Given the description of an element on the screen output the (x, y) to click on. 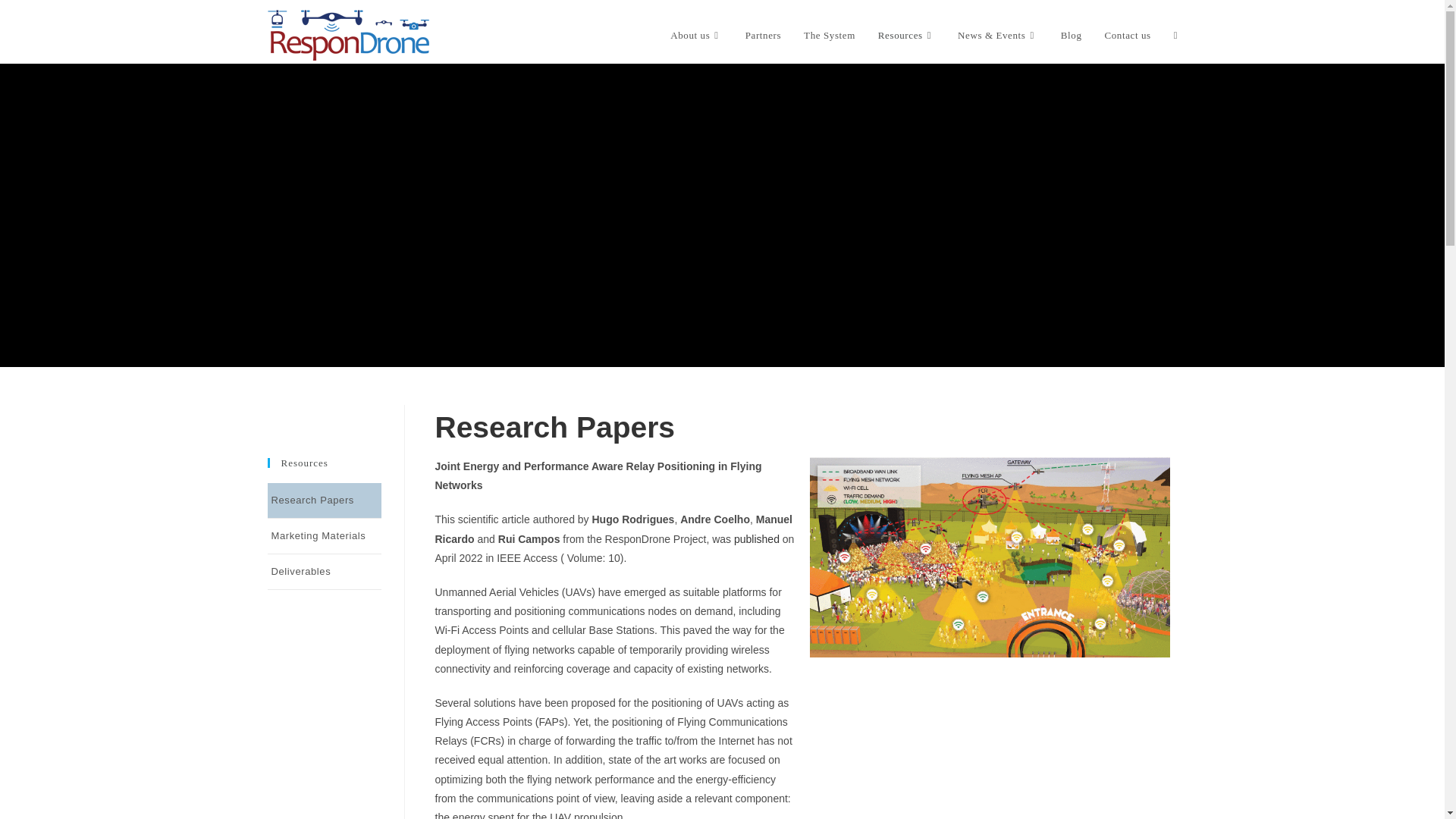
The System (829, 35)
Partners (762, 35)
About us (696, 35)
Resources (906, 35)
Contact us (1127, 35)
